Given the description of an element on the screen output the (x, y) to click on. 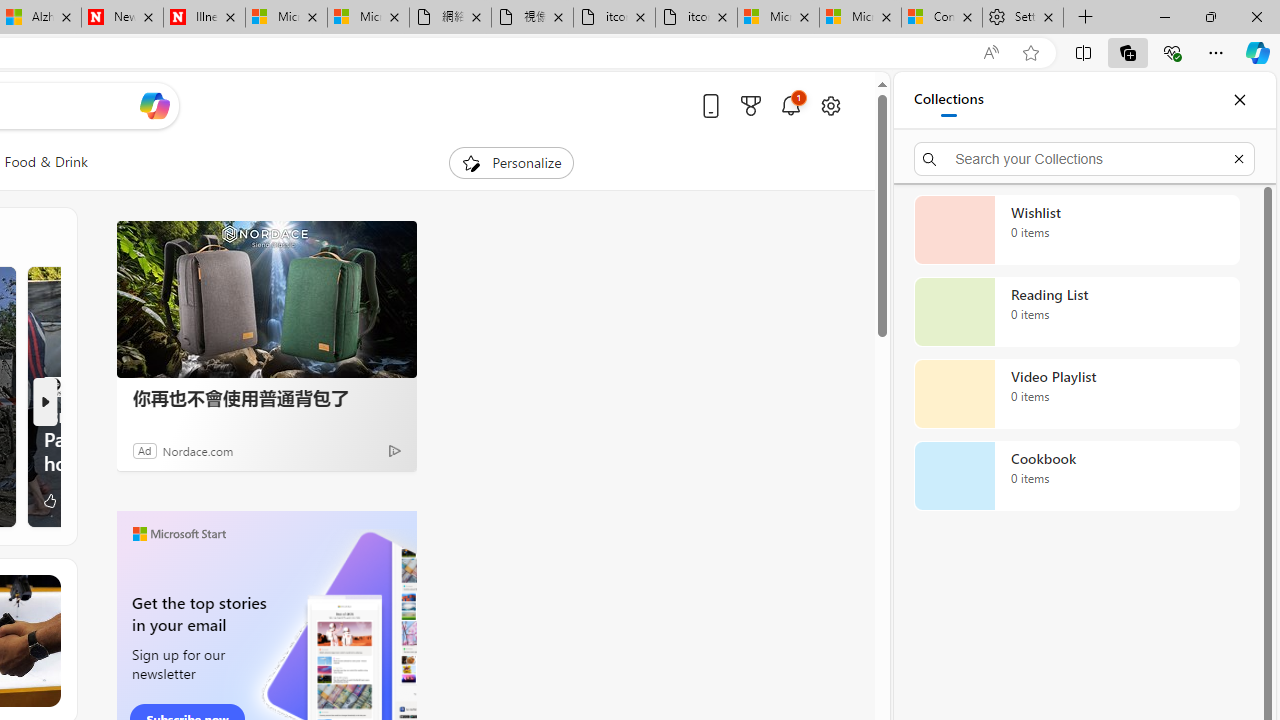
Open settings (830, 105)
69 Like (58, 500)
Microsoft rewards (749, 105)
Reading List collection, 0 items (1076, 312)
Notifications (790, 105)
